Given the description of an element on the screen output the (x, y) to click on. 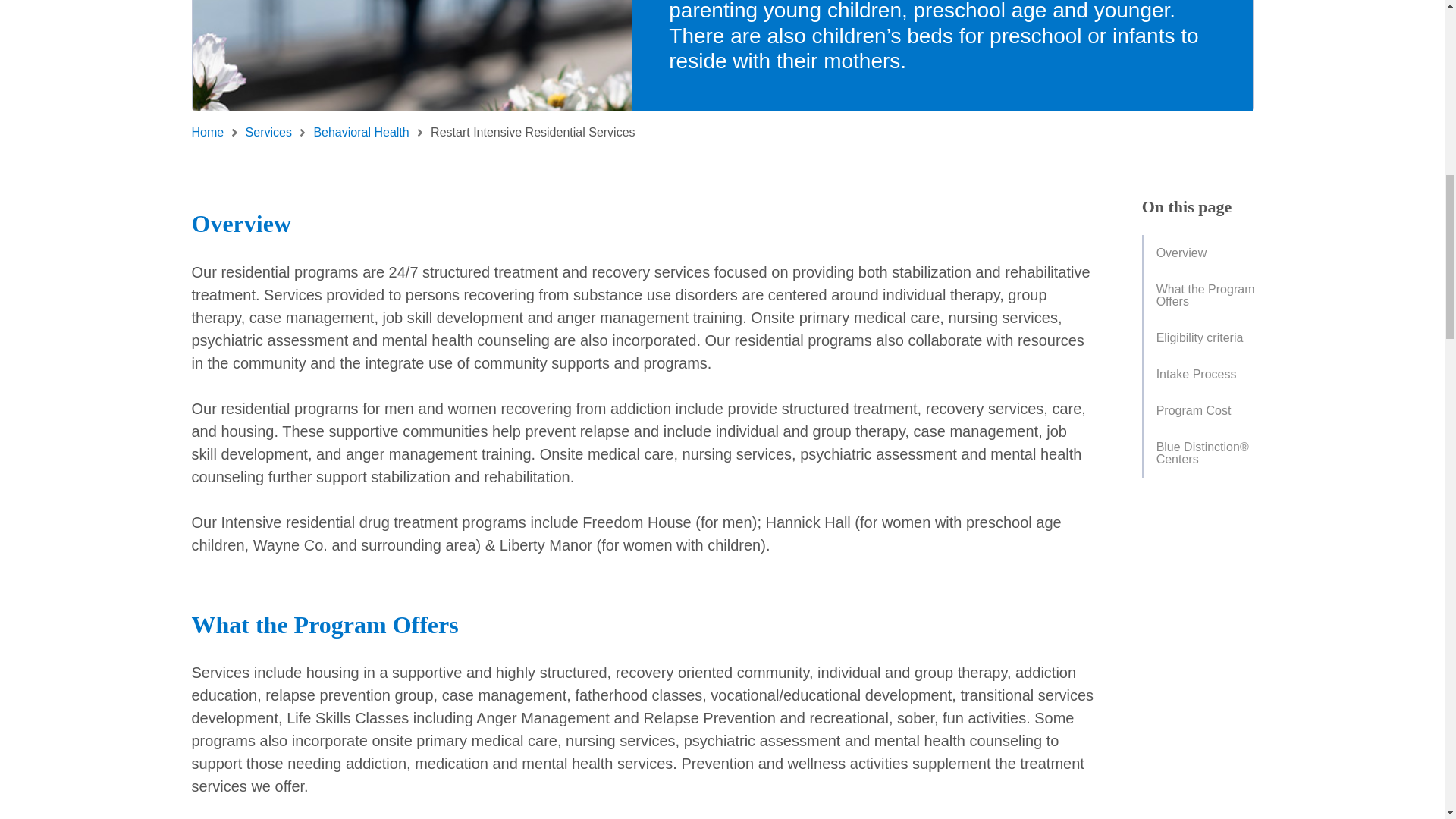
Overview (1204, 253)
Home (212, 132)
Eligibility criteria (1204, 338)
Eligibility criteria (1206, 338)
Intake Process (1206, 374)
What the Program Offers (1204, 295)
What the Program Offers (1206, 295)
Intake Process (1204, 374)
Program Cost (1206, 411)
Program Cost (1204, 411)
